Given the description of an element on the screen output the (x, y) to click on. 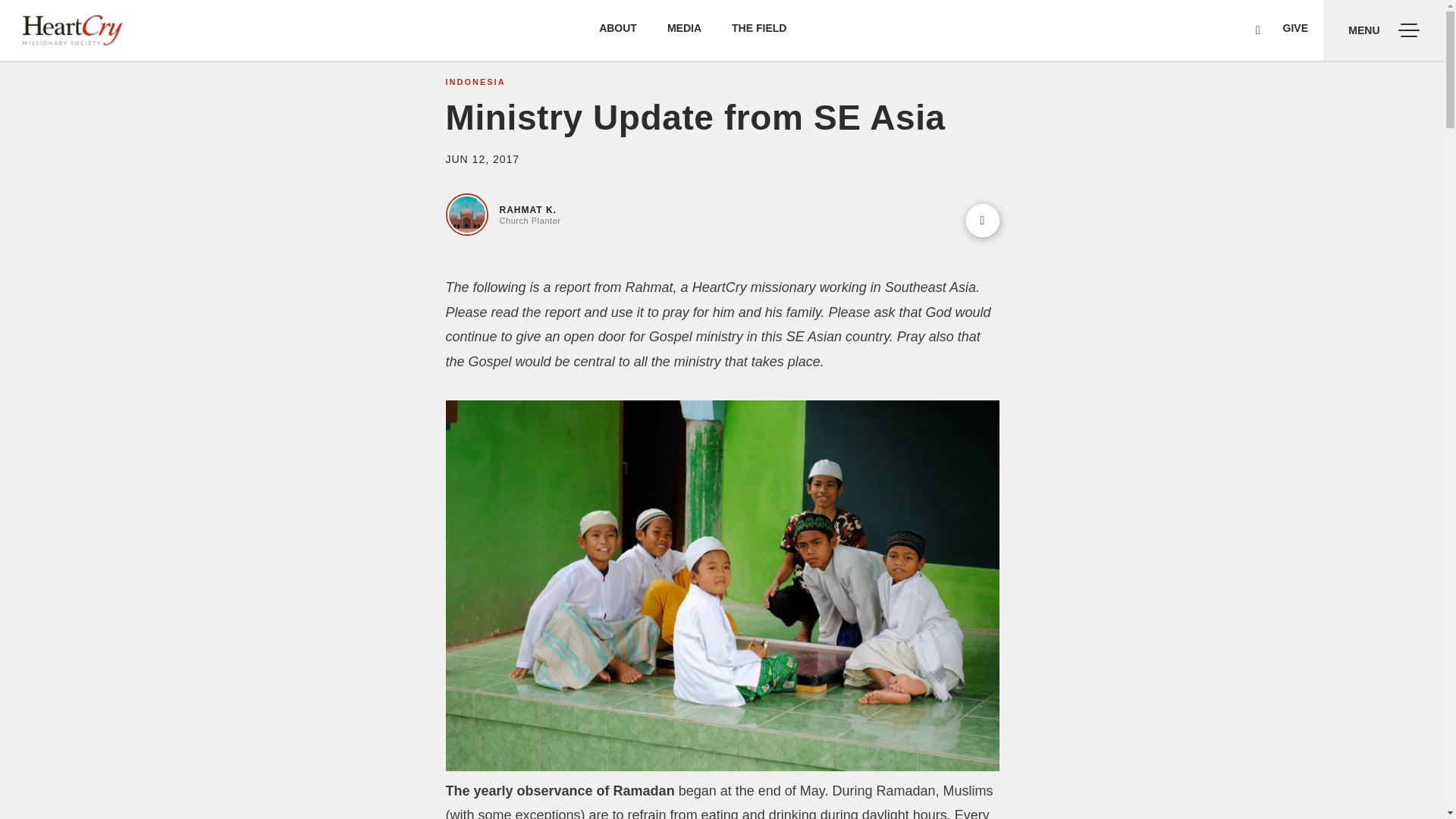
GIVE (1295, 28)
ABOUT (617, 28)
MEDIA (684, 28)
THE FIELD (759, 28)
